Given the description of an element on the screen output the (x, y) to click on. 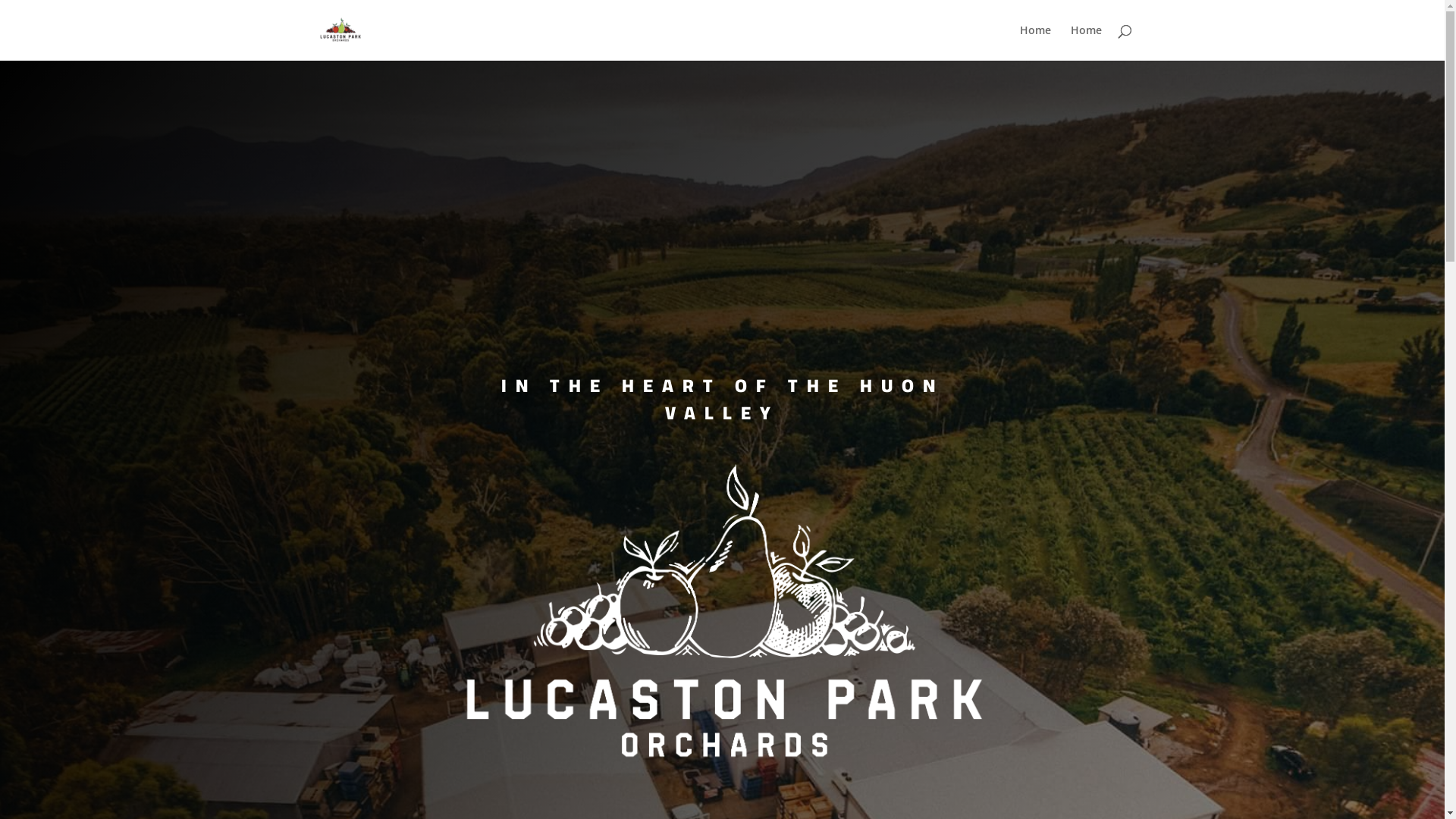
Home Element type: text (1034, 42)
Home Element type: text (1085, 42)
